Given the description of an element on the screen output the (x, y) to click on. 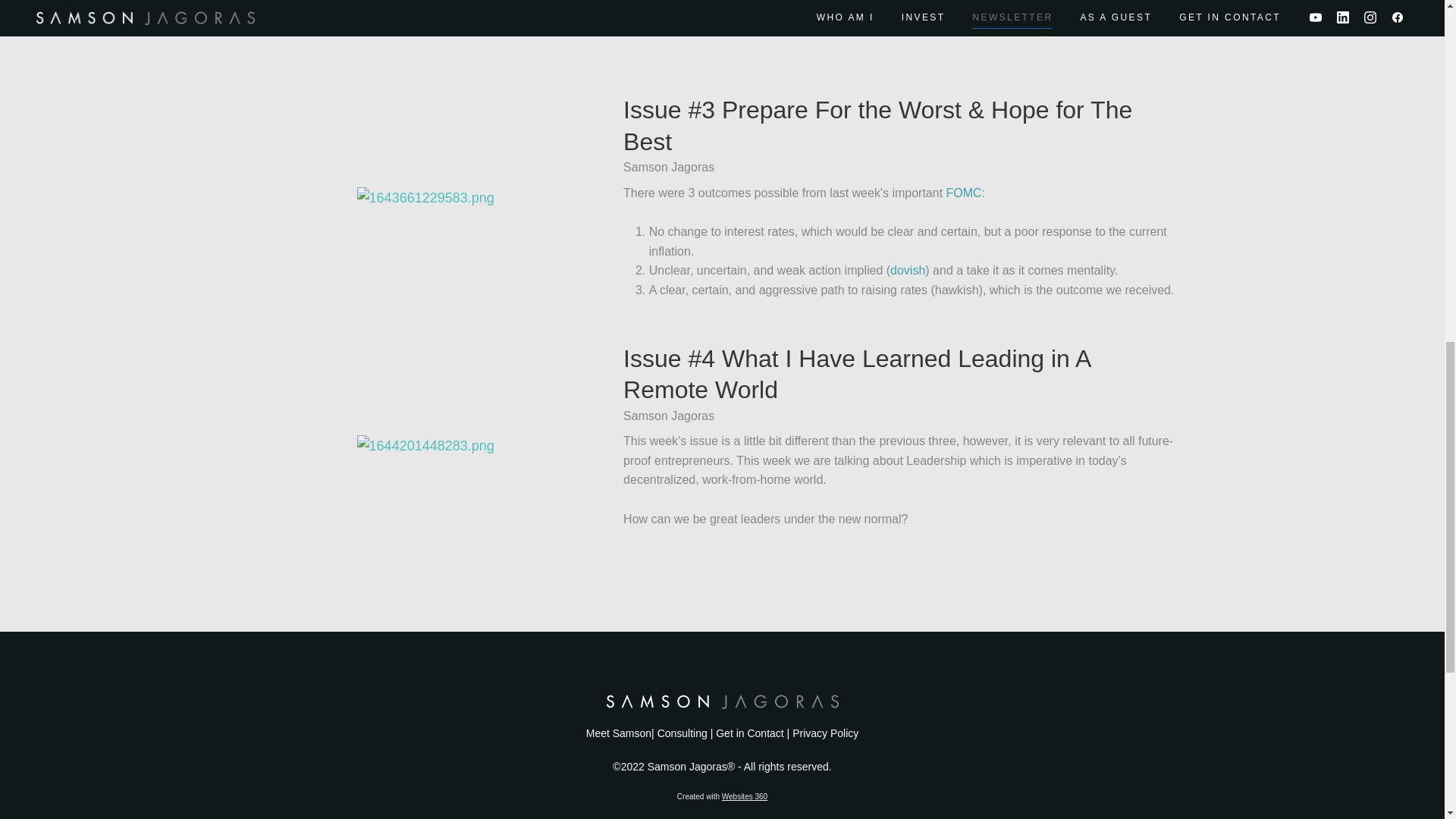
Created with Websites 360 (722, 796)
Get in Contact (750, 733)
FOMC (963, 192)
dovish (906, 269)
Privacy Policy (825, 733)
Meet Samson (618, 733)
